Given the description of an element on the screen output the (x, y) to click on. 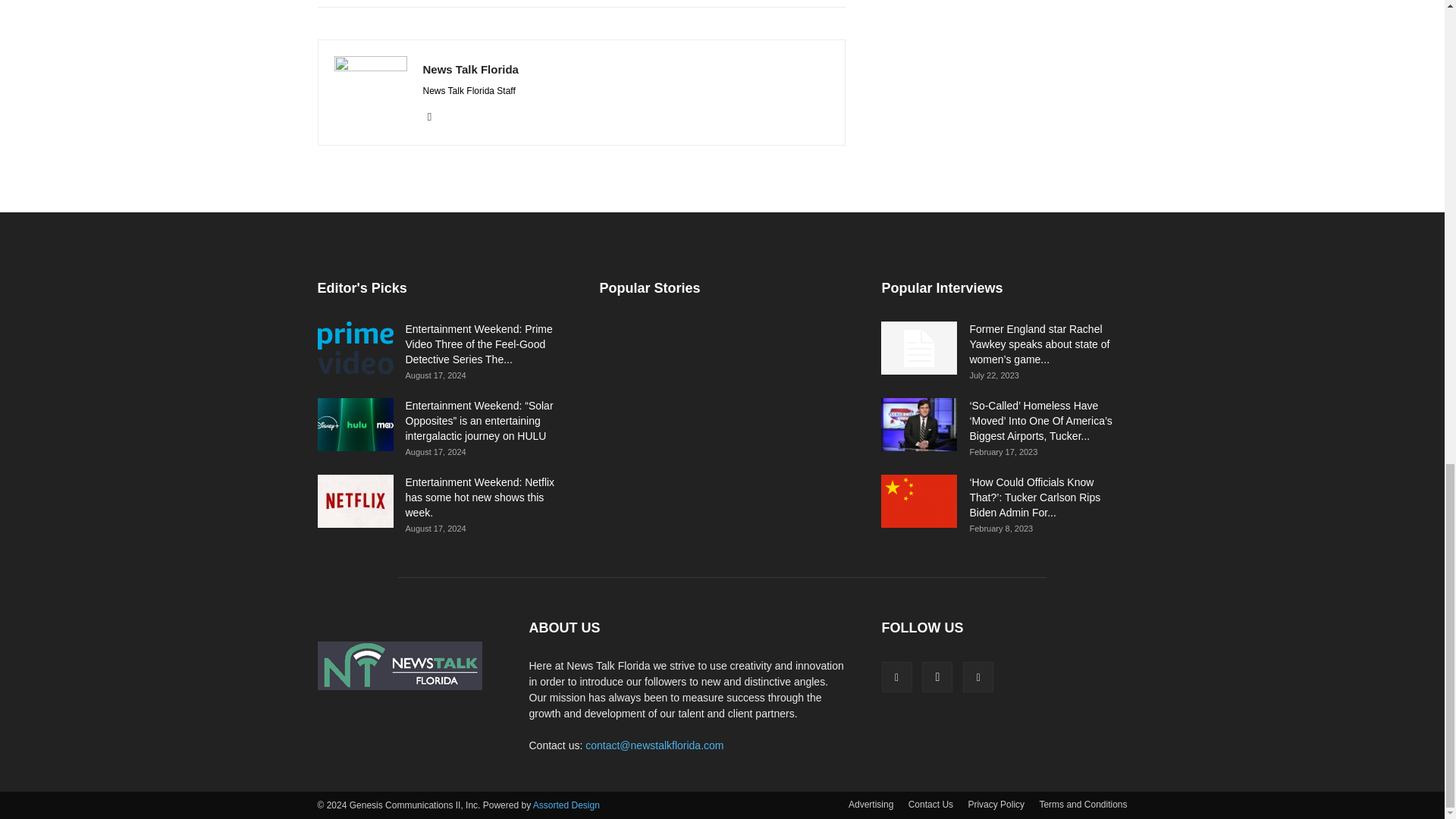
Twitter (435, 116)
